Given the description of an element on the screen output the (x, y) to click on. 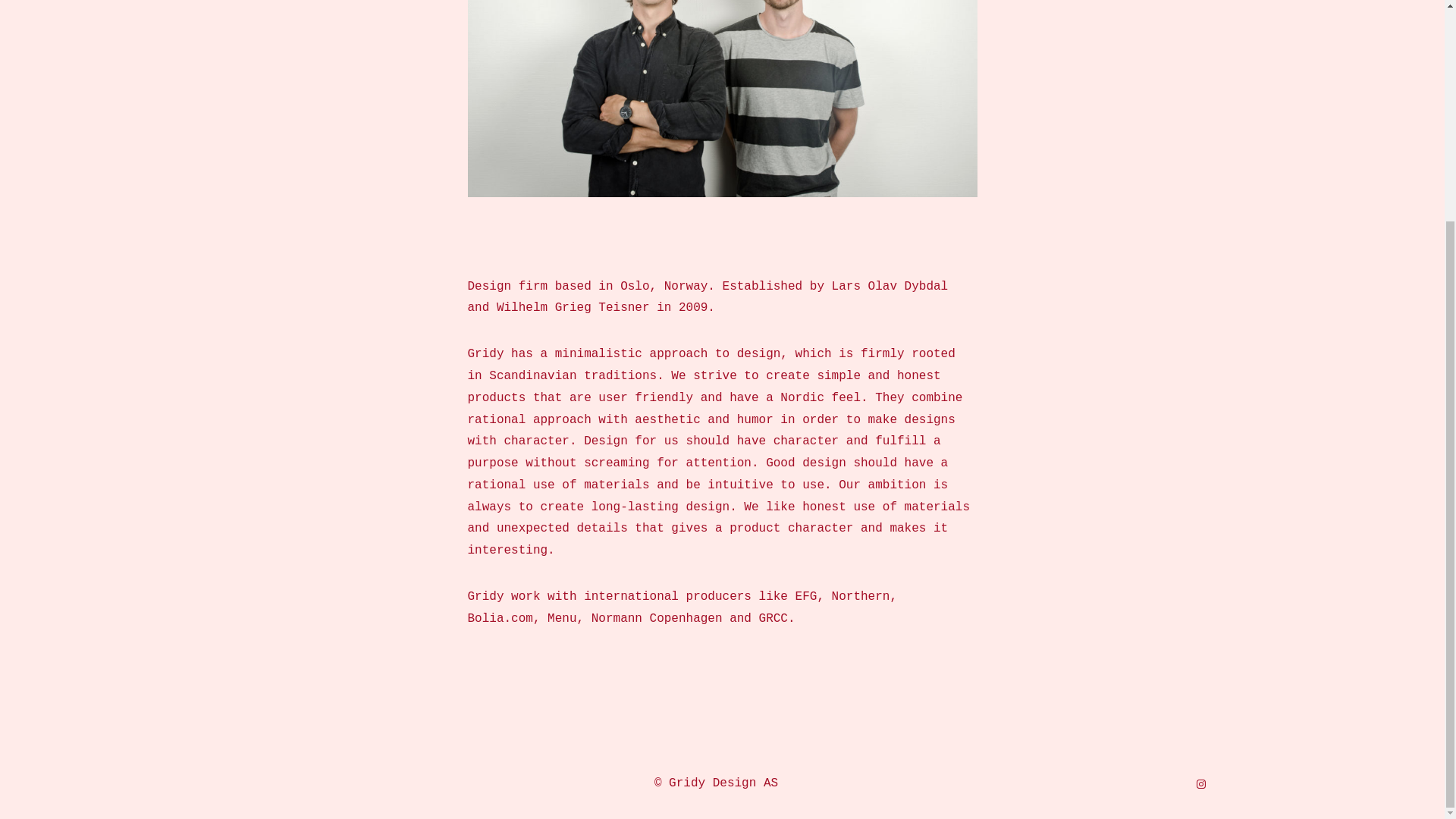
Instagram (1201, 784)
